Given the description of an element on the screen output the (x, y) to click on. 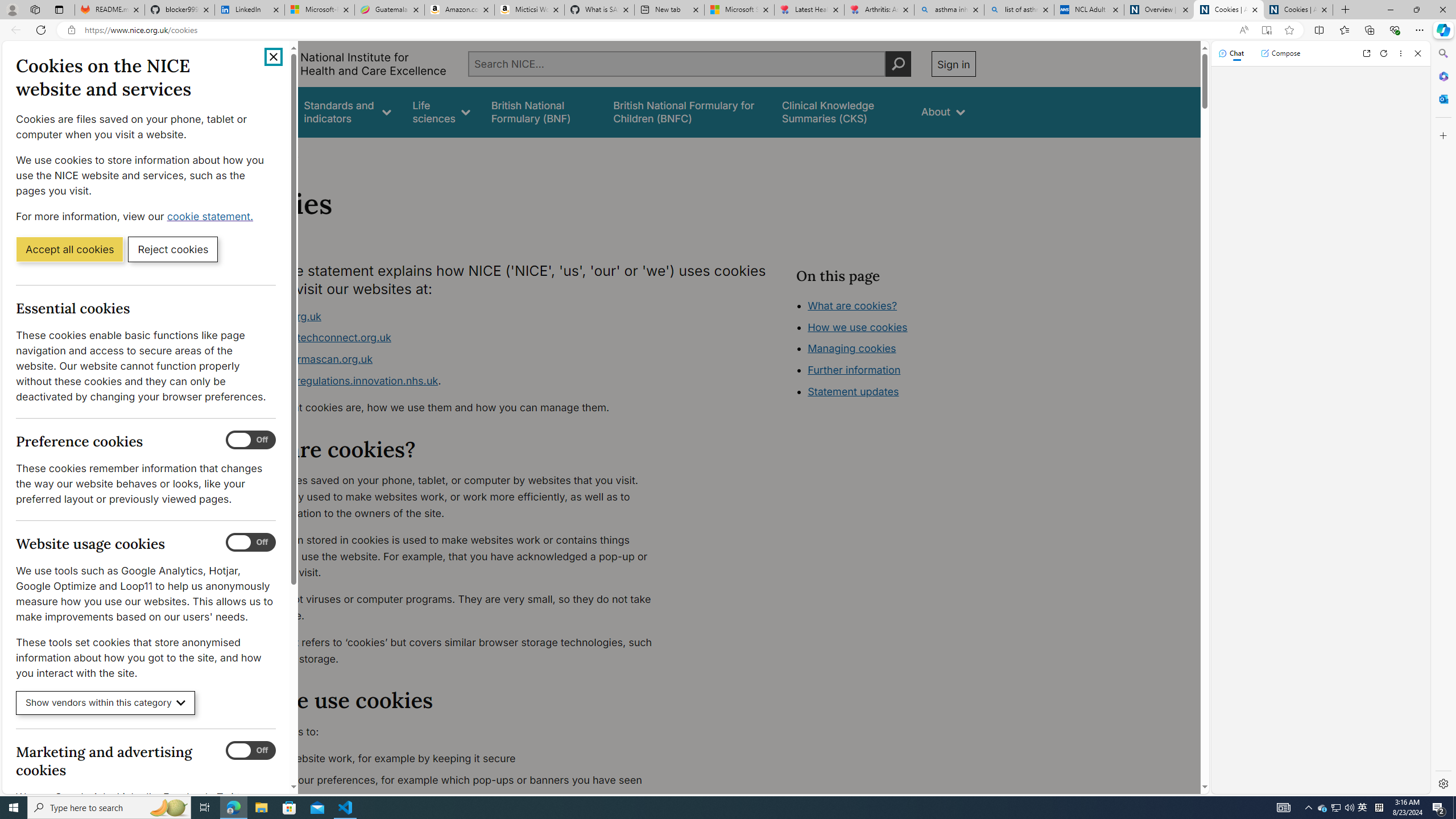
Guidance (260, 111)
Website usage cookies (250, 542)
list of asthma inhalers uk - Search (1018, 9)
Cookies | About | NICE (1297, 9)
